Given the description of an element on the screen output the (x, y) to click on. 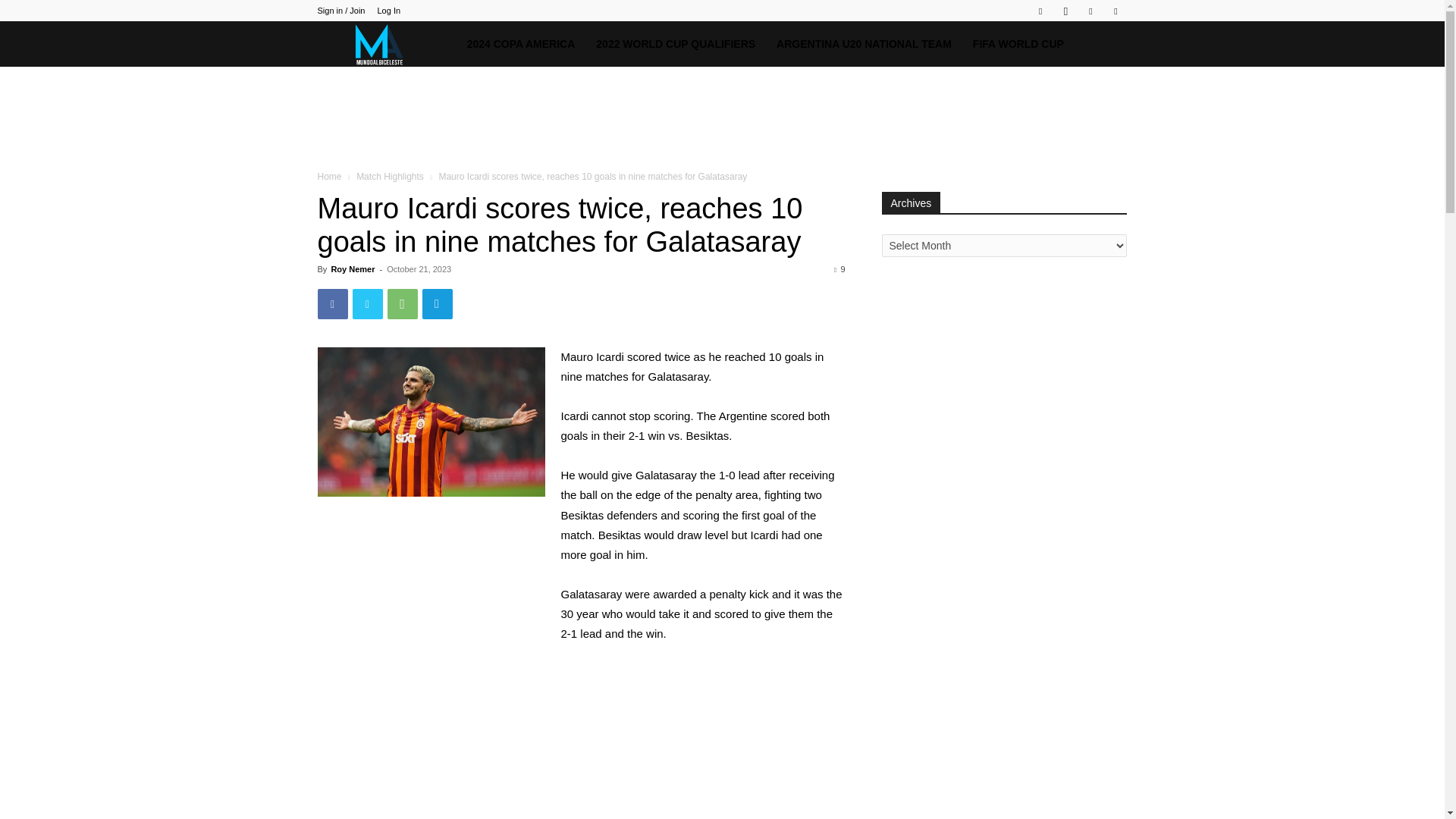
Mundo Albiceleste (386, 44)
View all posts in Match Highlights (389, 176)
Twitter (366, 304)
Roy Nemer (352, 268)
Facebook (1040, 10)
9 (839, 268)
Instagram (1065, 10)
Youtube (1114, 10)
Match Highlights (389, 176)
2024 COPA AMERICA (521, 43)
Home (328, 176)
Twitter (1090, 10)
ARGENTINA U20 NATIONAL TEAM (863, 43)
FIFA WORLD CUP (1018, 43)
2022 WORLD CUP QUALIFIERS (675, 43)
